Given the description of an element on the screen output the (x, y) to click on. 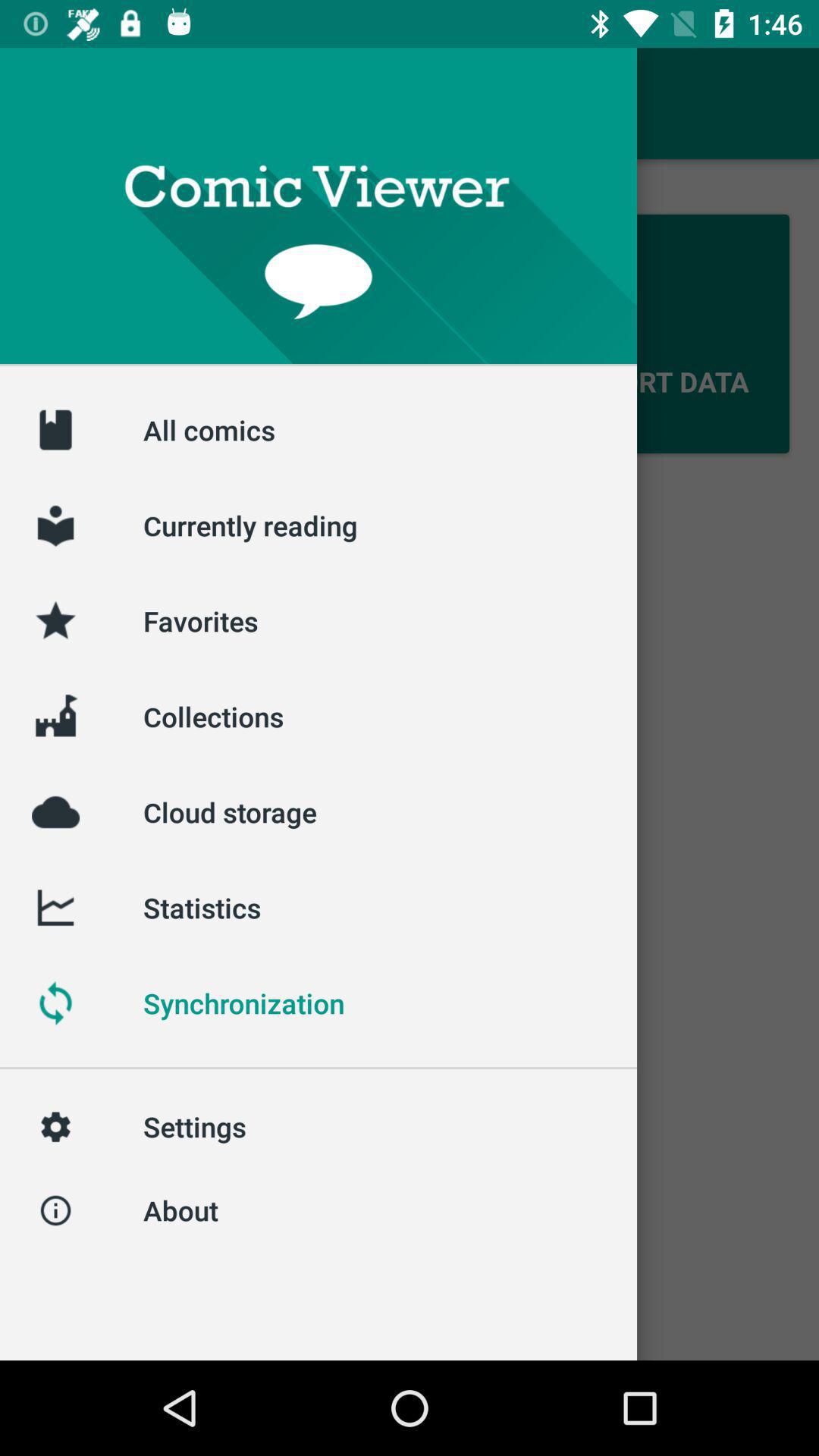
choose the icon beside collections (55, 716)
click on the icon of synchronization (55, 1003)
the icon left to about (55, 1210)
